Given the description of an element on the screen output the (x, y) to click on. 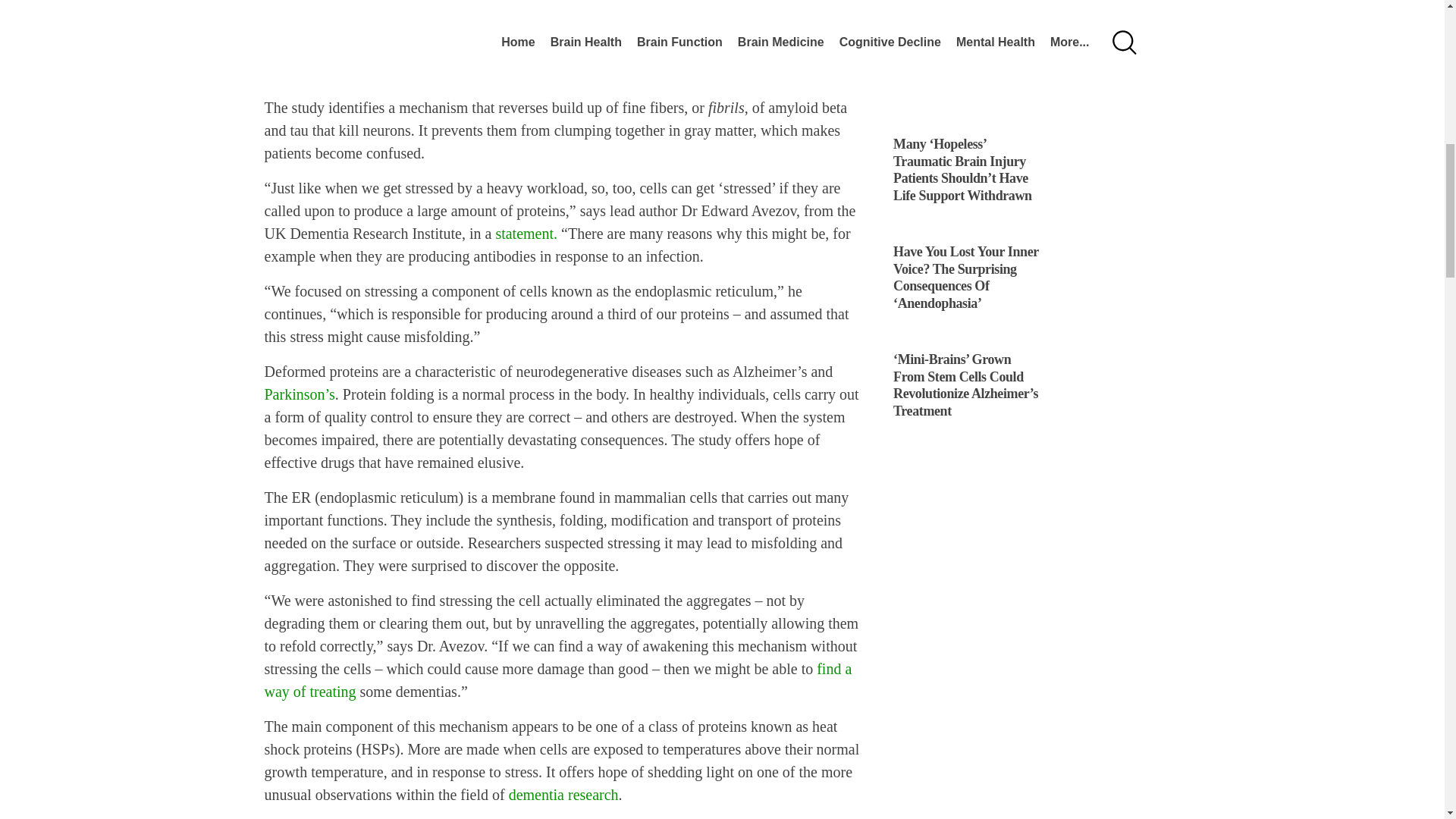
statement. (526, 233)
dementia research (563, 794)
are expected to triple (745, 49)
find a way of treating (557, 680)
